Given the description of an element on the screen output the (x, y) to click on. 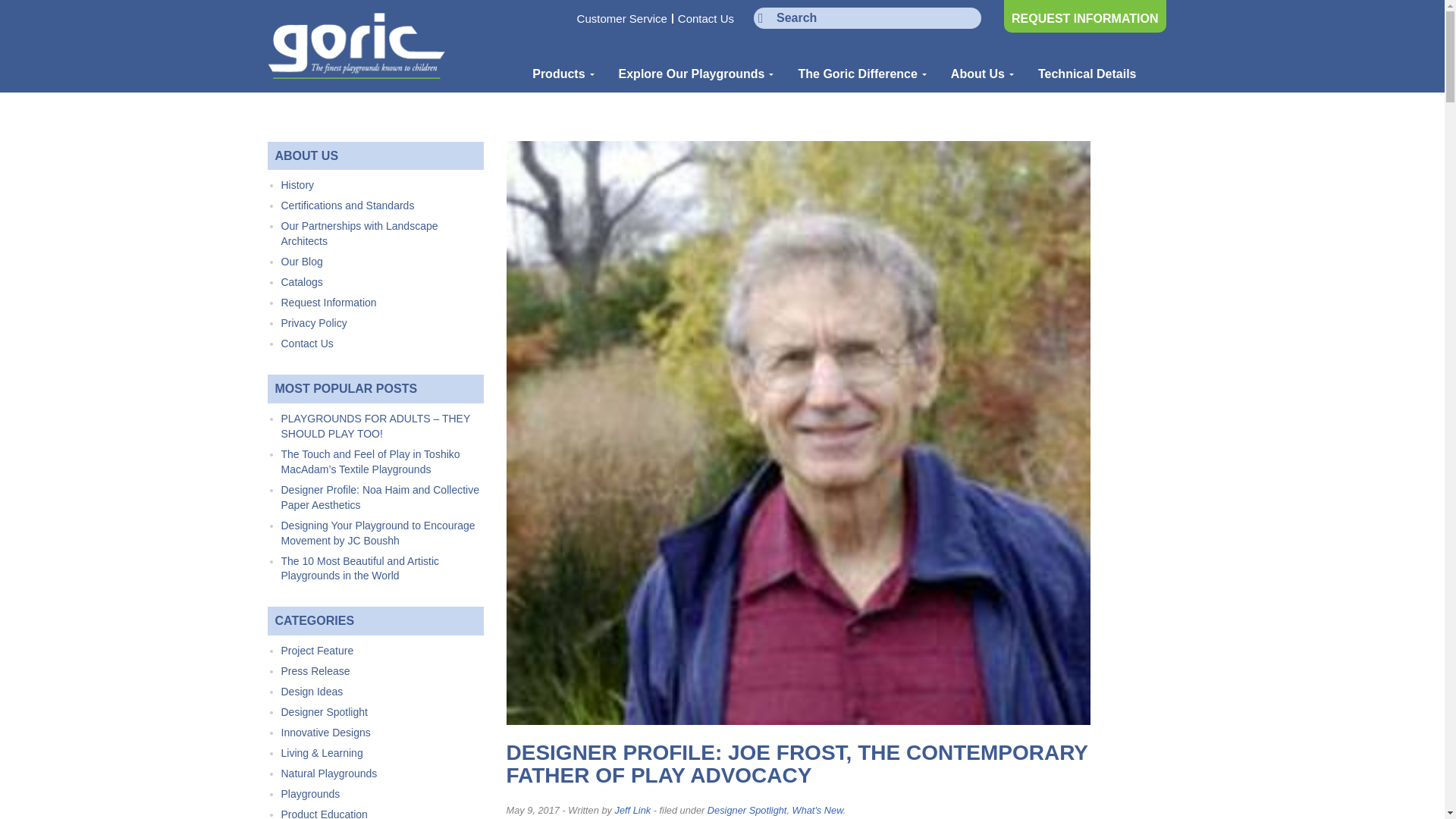
Contact Us (705, 18)
search (867, 17)
Posts by Jeff Link (632, 809)
Customer Service (621, 18)
REQUEST INFORMATION (1085, 16)
Products (556, 73)
Home (355, 45)
